Given the description of an element on the screen output the (x, y) to click on. 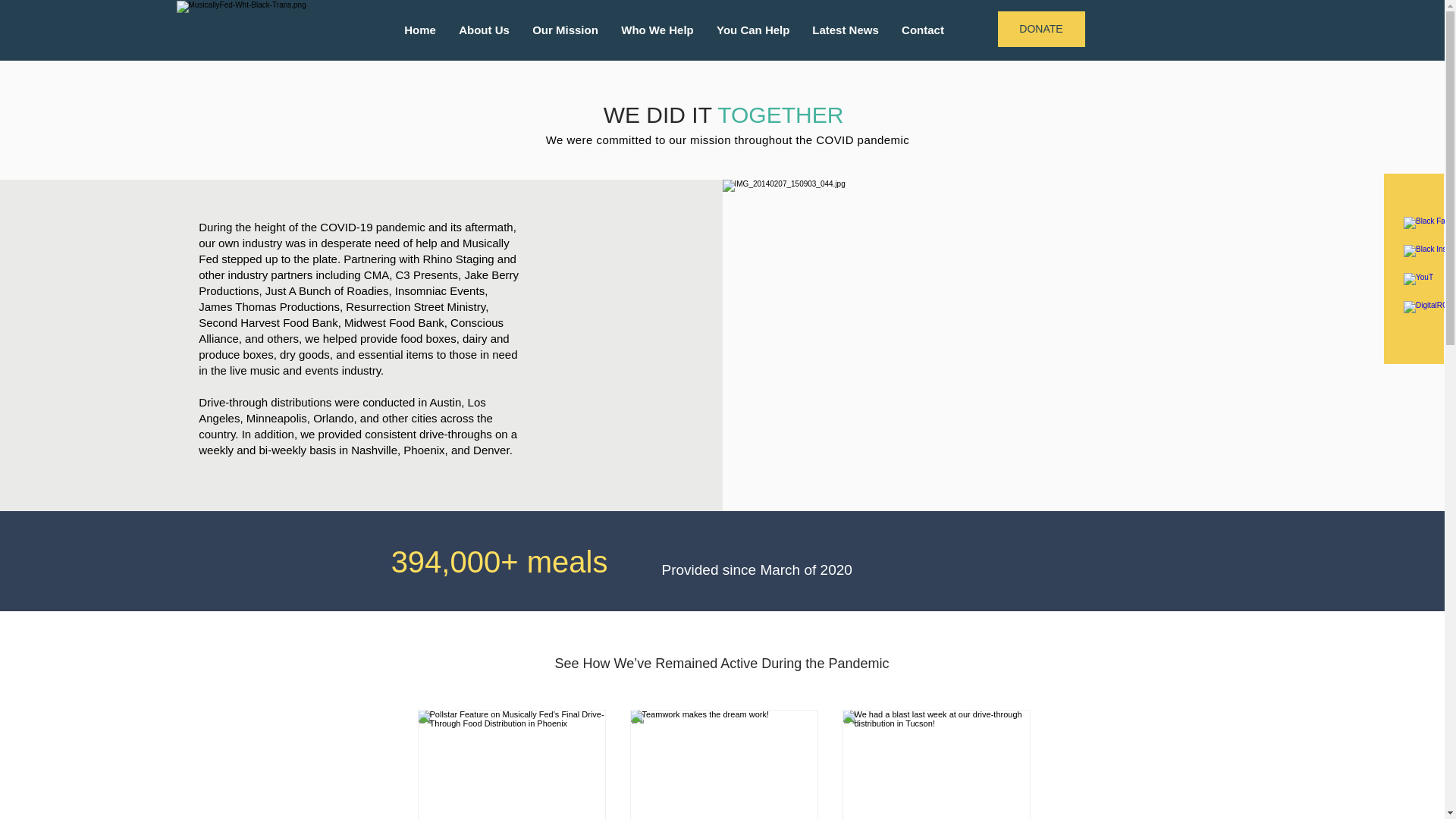
Our Mission (565, 29)
Contact (922, 29)
You Can Help (752, 29)
About Us (483, 29)
Who We Help (657, 29)
DONATE (1040, 28)
Latest News (844, 29)
Home (419, 29)
